Given the description of an element on the screen output the (x, y) to click on. 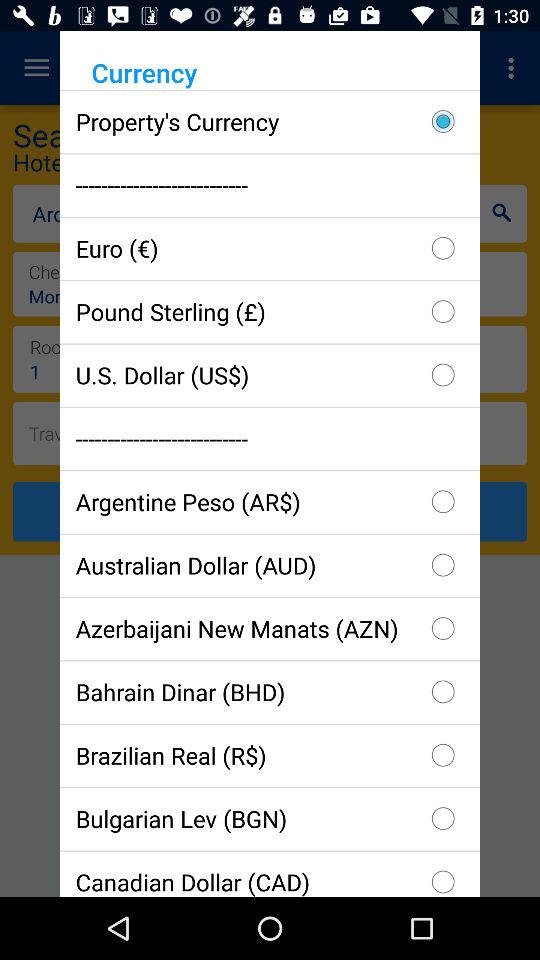
flip until the azerbaijani new manats (270, 628)
